Given the description of an element on the screen output the (x, y) to click on. 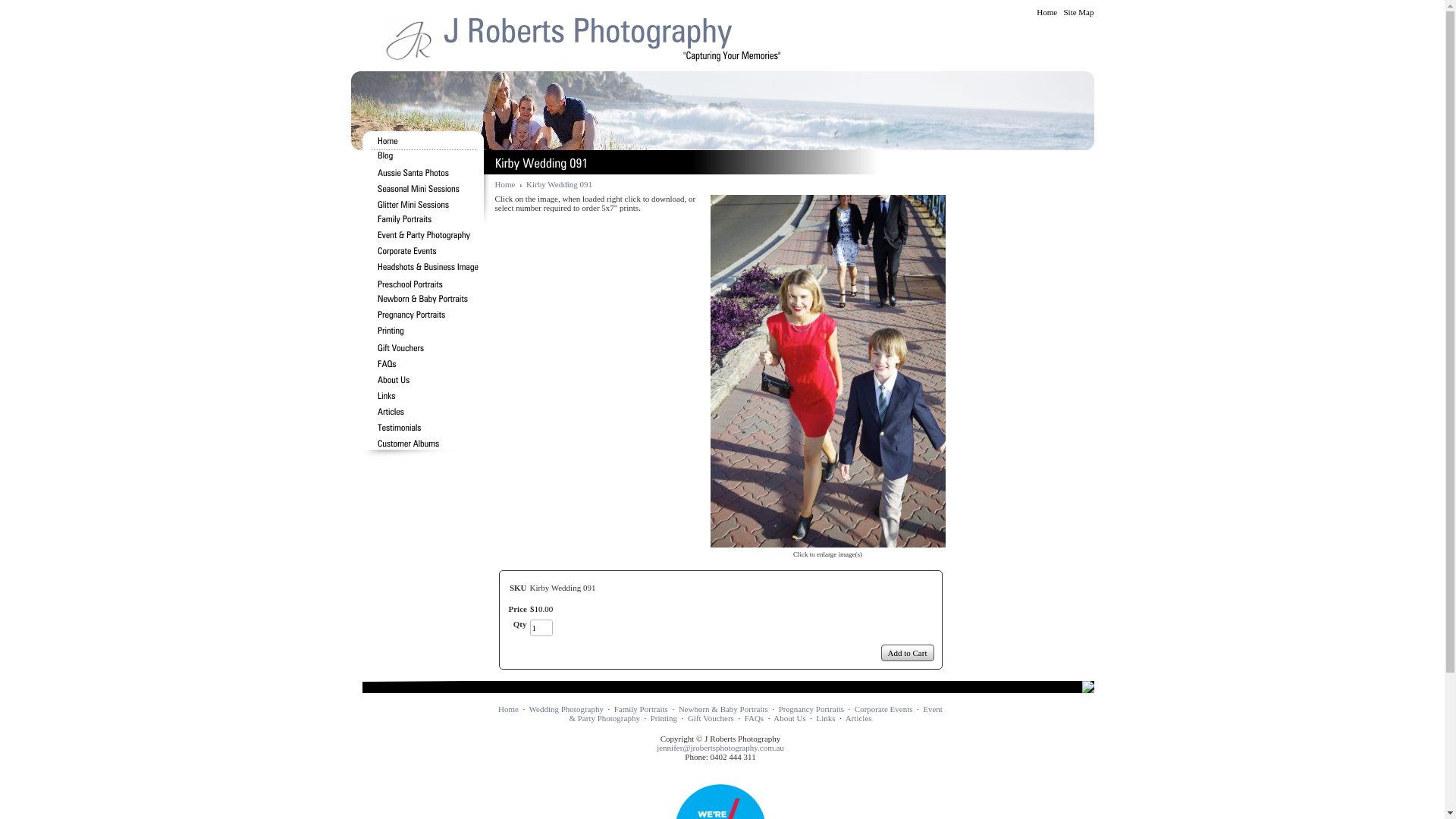
Kirby Wedding 091 Element type: hover (826, 542)
Site Map Element type: text (1078, 11)
Links Element type: text (825, 717)
jennifer@jrobertsphotography.com.au Element type: text (720, 747)
Home Element type: text (504, 183)
Corporate Events Element type: text (883, 708)
Gift Vouchers Element type: text (710, 717)
Newborn & Baby Portraits Element type: text (723, 708)
Home Element type: text (508, 708)
Add to Cart Element type: text (907, 652)
Pregnancy Portraits Element type: text (811, 708)
Family Portraits Element type: text (641, 708)
Home Element type: text (1046, 11)
Articles Element type: text (858, 717)
About Us Element type: text (789, 717)
Wedding Photography Element type: text (566, 708)
Kirby Wedding 091 Element type: hover (826, 370)
Event & Party Photography Element type: text (755, 713)
Printing Element type: text (663, 717)
FAQs Element type: text (753, 717)
Kirby Wedding 091 Element type: text (559, 183)
